Given the description of an element on the screen output the (x, y) to click on. 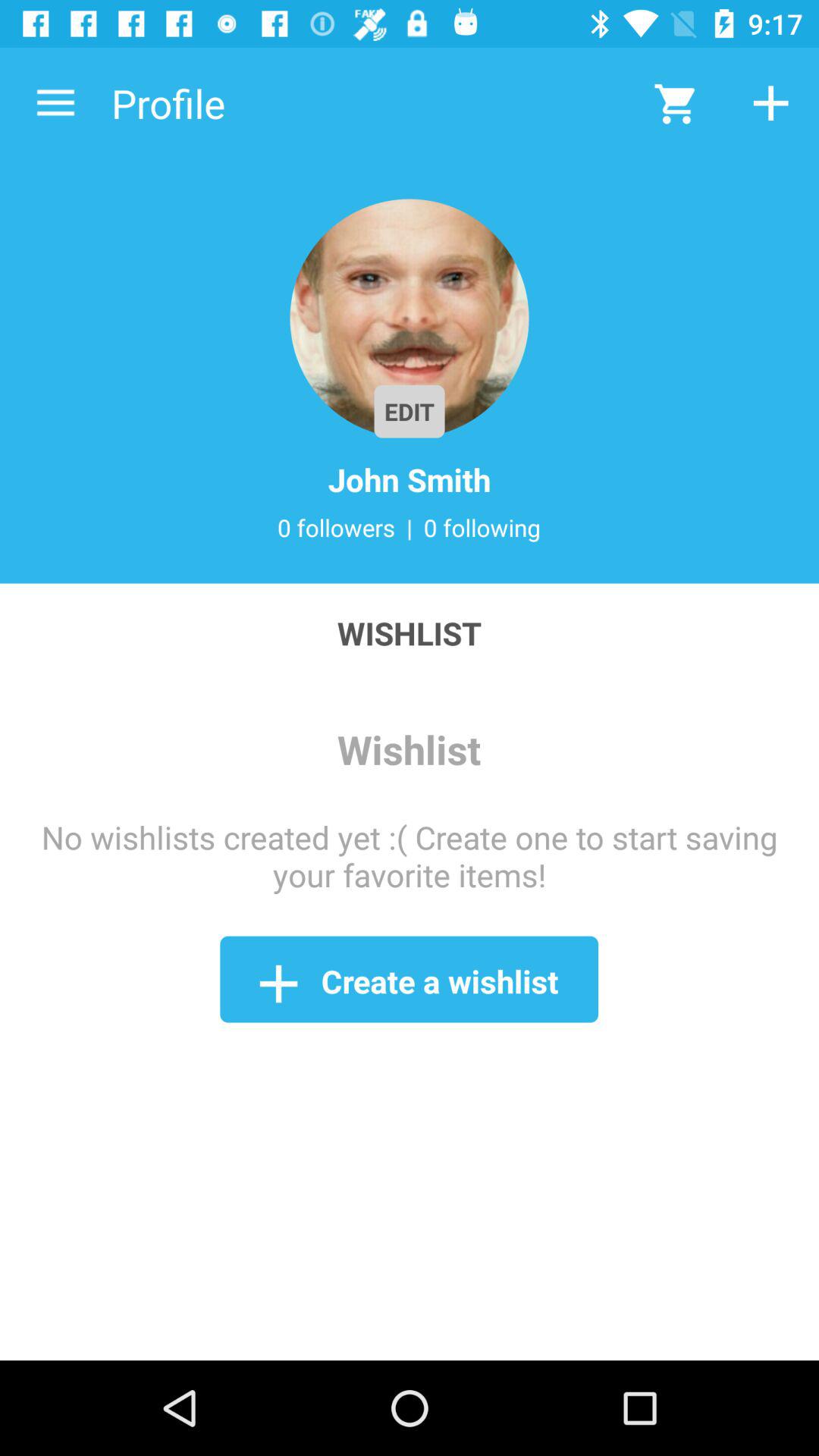
swipe to the 0 followers item (336, 527)
